Given the description of an element on the screen output the (x, y) to click on. 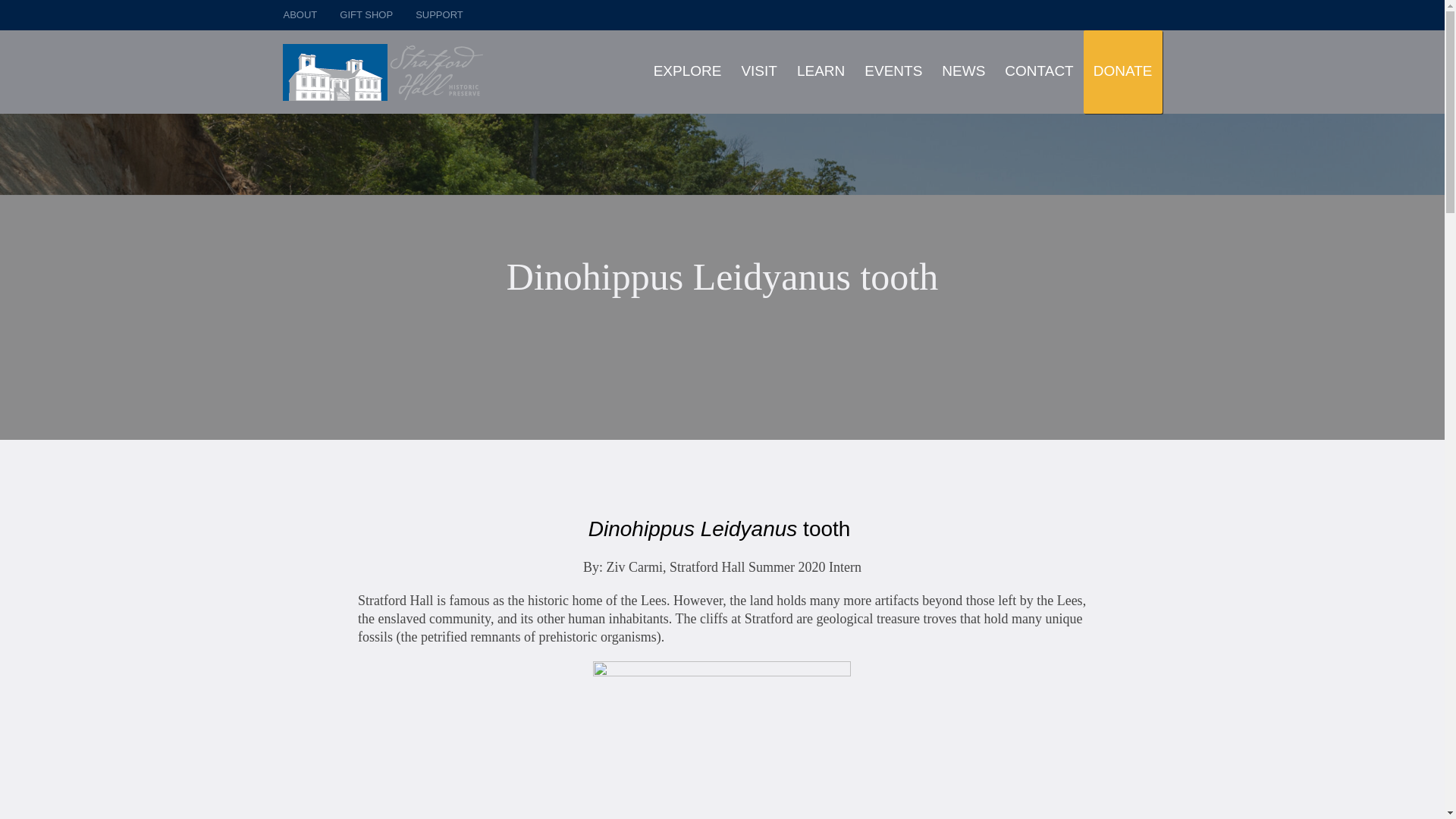
EXPLORE (687, 71)
GIFT SHOP (366, 14)
CONTACT (1038, 71)
EVENTS (892, 71)
ABOUT (300, 14)
SUPPORT (438, 14)
